Given the description of an element on the screen output the (x, y) to click on. 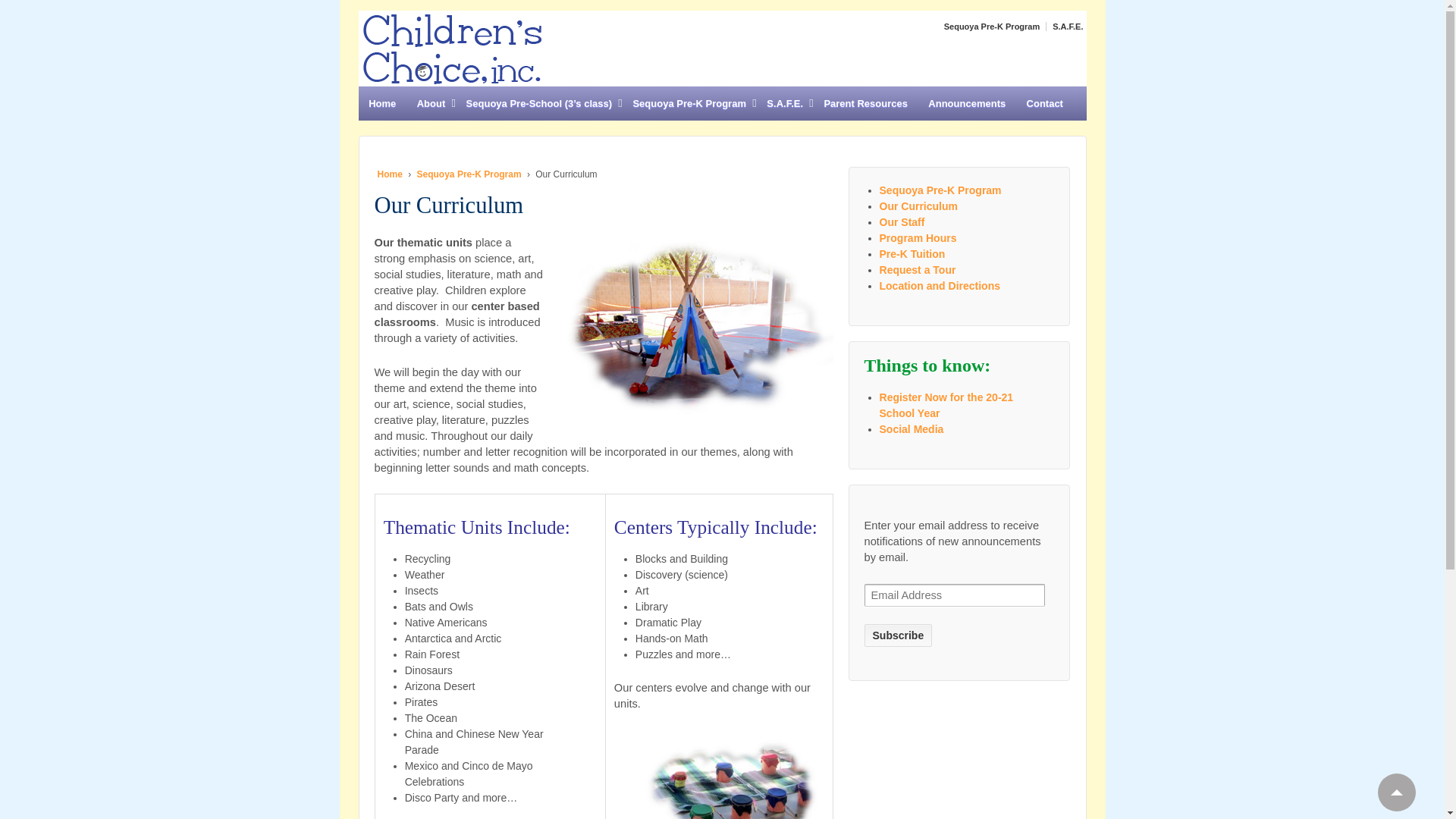
Scroll to Top (1396, 792)
Sequoya Pre-K Program (468, 173)
Our Staff (901, 222)
Our Curriculum (918, 205)
Subscribe (898, 635)
Parent Resources (866, 103)
Location and Directions (939, 285)
Social Media (911, 428)
Register Now for the 20-21 School Year (946, 405)
Announcements (967, 103)
S.A.F.E. (1065, 26)
Request a Tour (917, 269)
Sequoya Pre-K Program (990, 26)
Home (390, 173)
Sequoya Pre-K Program (689, 103)
